Given the description of an element on the screen output the (x, y) to click on. 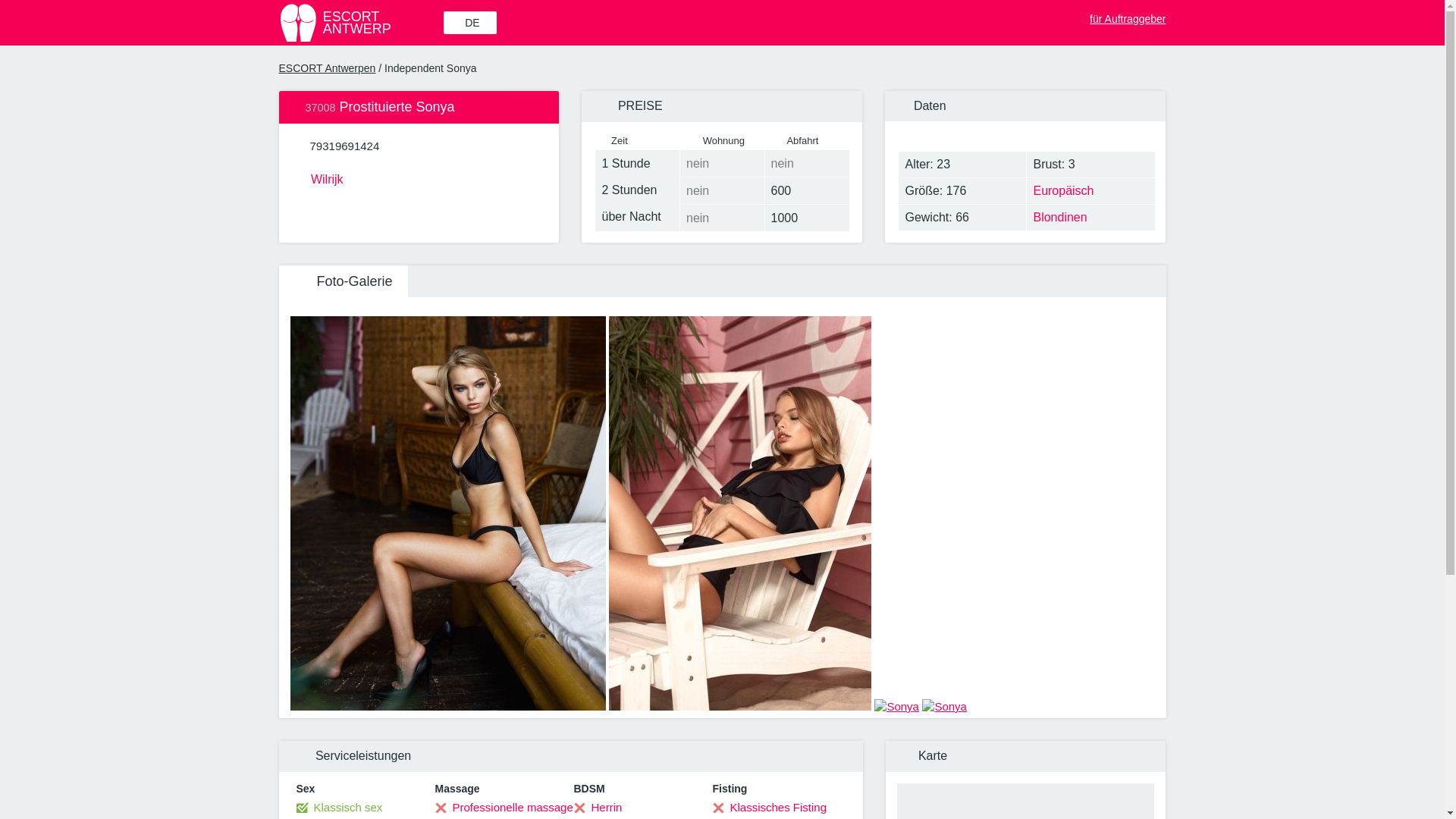
Foto-Galerie (343, 281)
Klassisch sex (338, 807)
ESCORT Antwerpen (327, 68)
Wilrijk (418, 177)
79319691424 (360, 22)
Professionelle massage (345, 145)
